Given the description of an element on the screen output the (x, y) to click on. 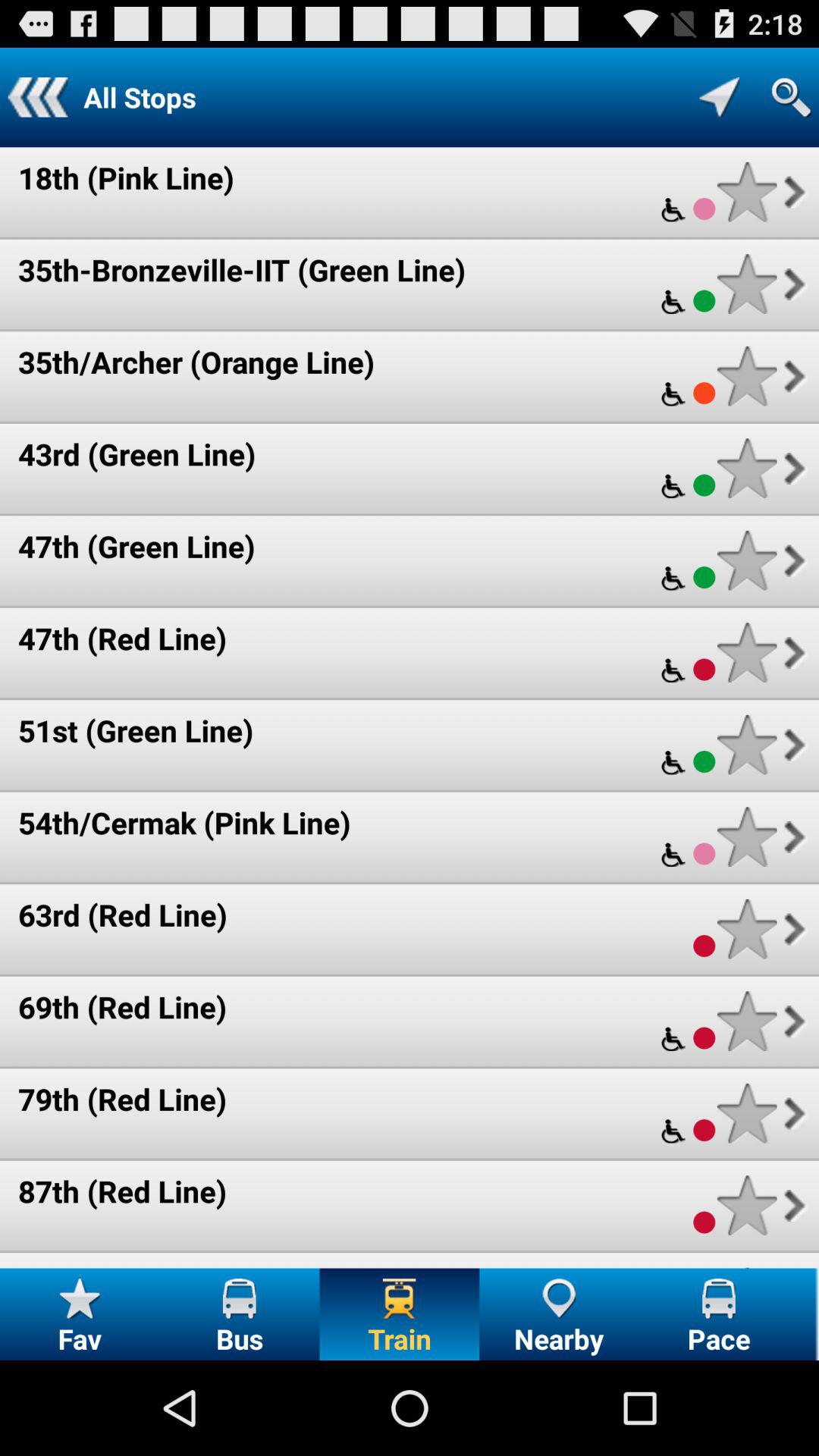
rate your experience (746, 468)
